Given the description of an element on the screen output the (x, y) to click on. 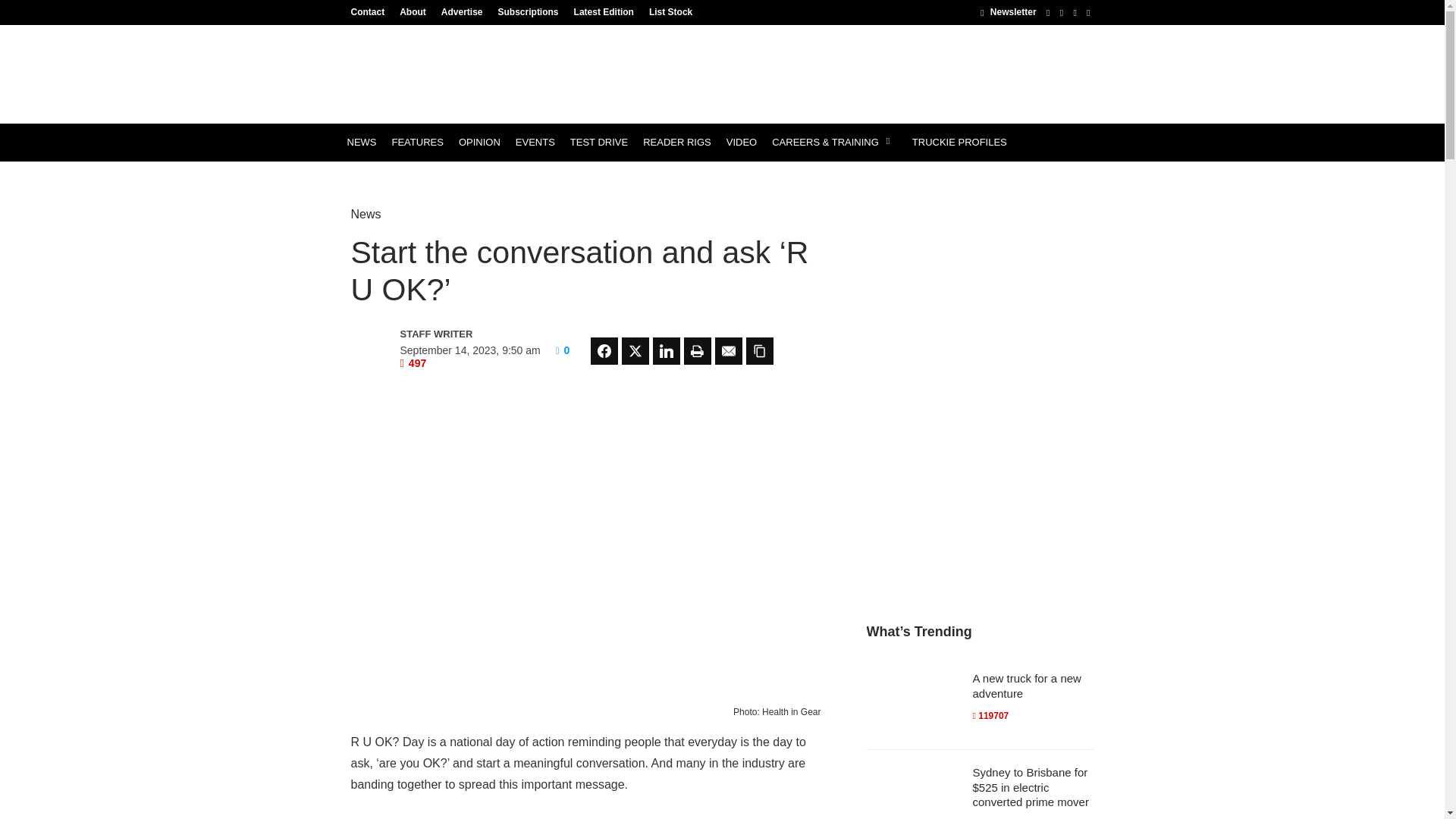
Advertise (461, 11)
Views (413, 363)
OPINION (479, 142)
Share on Print (697, 350)
MARKETPLACE (383, 180)
Share on Twitter (635, 350)
Subscriptions (528, 11)
List Stock (667, 11)
Newsletter (1007, 11)
Share on Copy Link (759, 350)
